Given the description of an element on the screen output the (x, y) to click on. 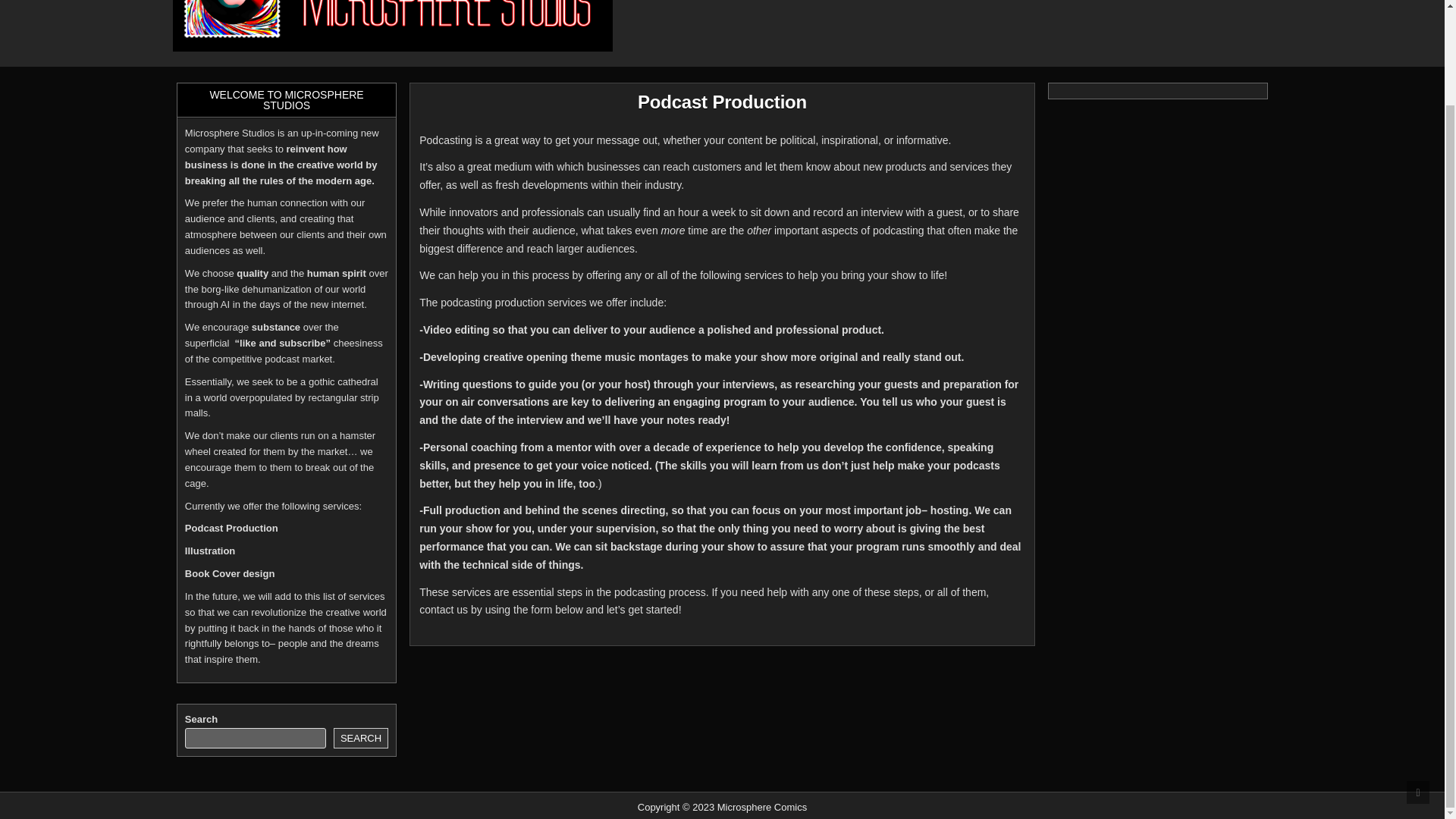
SEARCH (360, 738)
Podcast Production (721, 101)
SCROLL TO TOP (1417, 681)
SCROLL TO TOP (1417, 681)
Scroll to Top (1417, 681)
Microsphere Studios (255, 66)
